Given the description of an element on the screen output the (x, y) to click on. 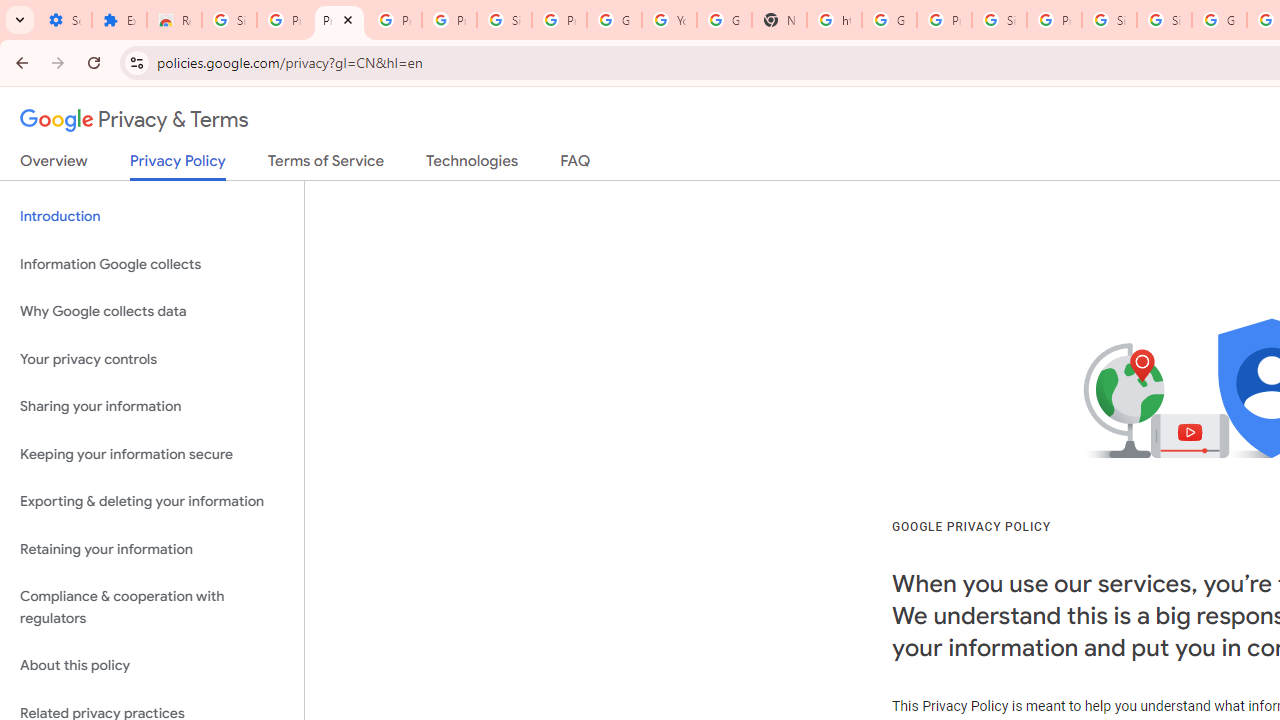
Keeping your information secure (152, 453)
